Given the description of an element on the screen output the (x, y) to click on. 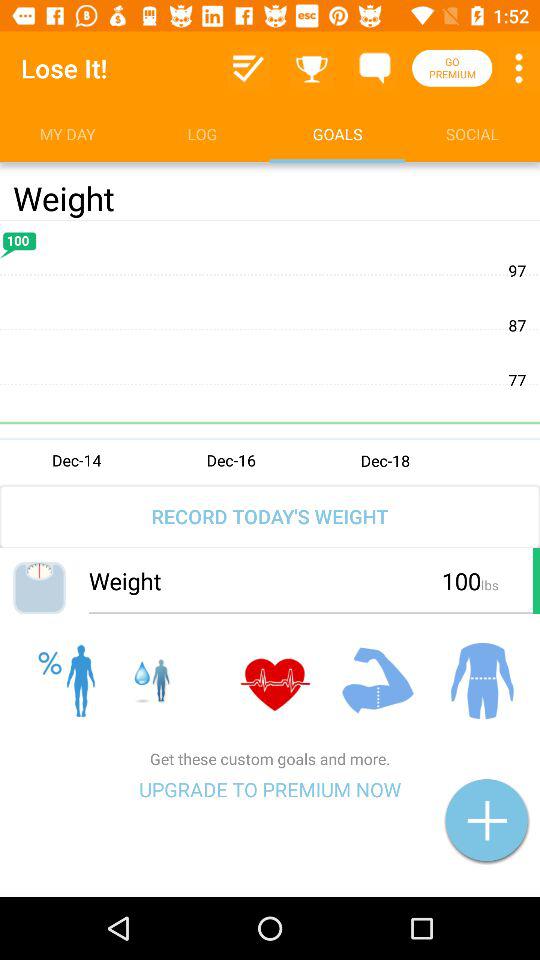
open menu (519, 68)
